Given the description of an element on the screen output the (x, y) to click on. 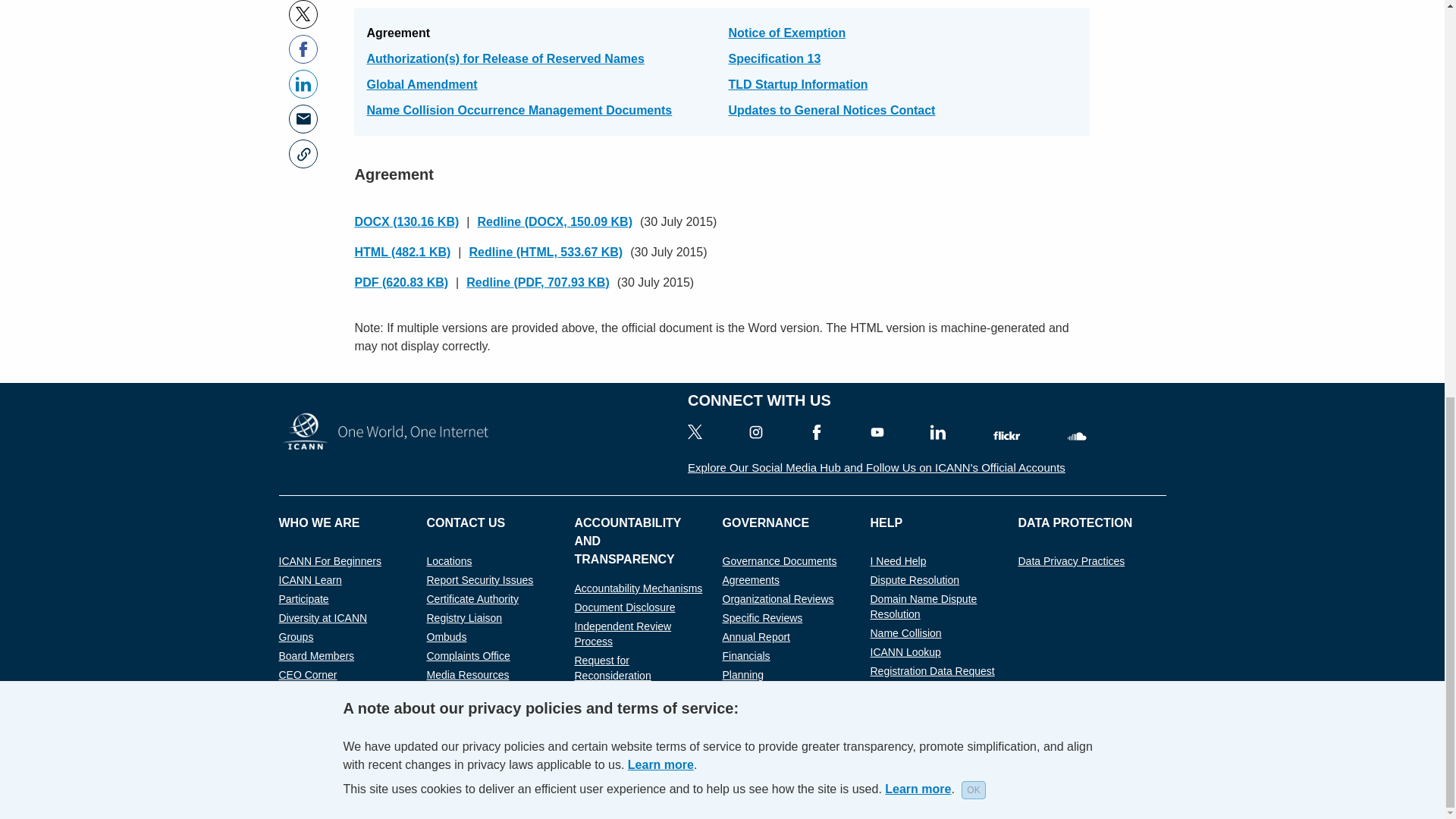
Learn more (917, 17)
OK (972, 18)
